Given the description of an element on the screen output the (x, y) to click on. 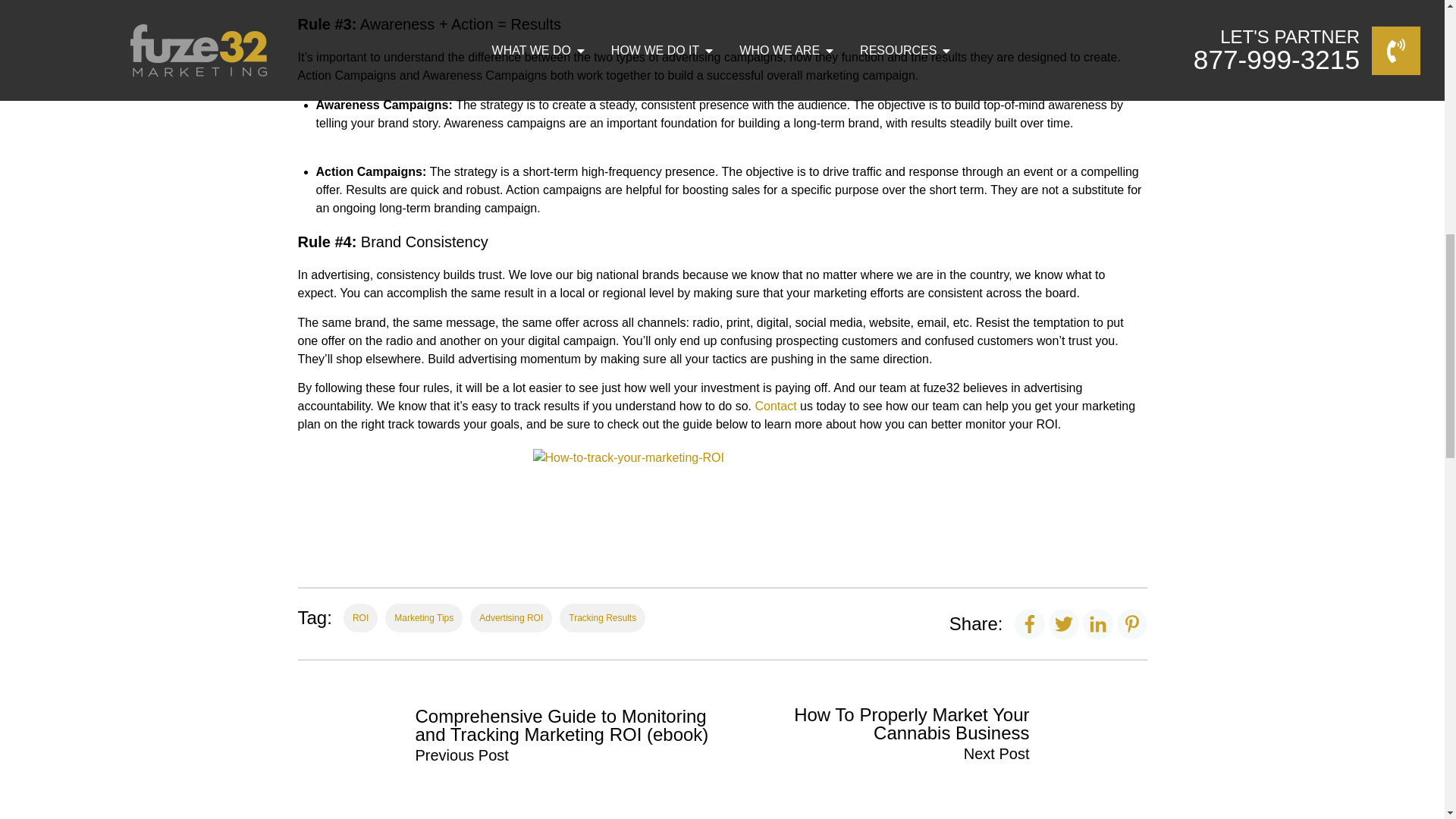
Follow us on Twitter (1062, 624)
Follow us on Facebook (1029, 624)
Follow us on Linkedin (1097, 624)
Follow us on Pinterest (1131, 624)
